Given the description of an element on the screen output the (x, y) to click on. 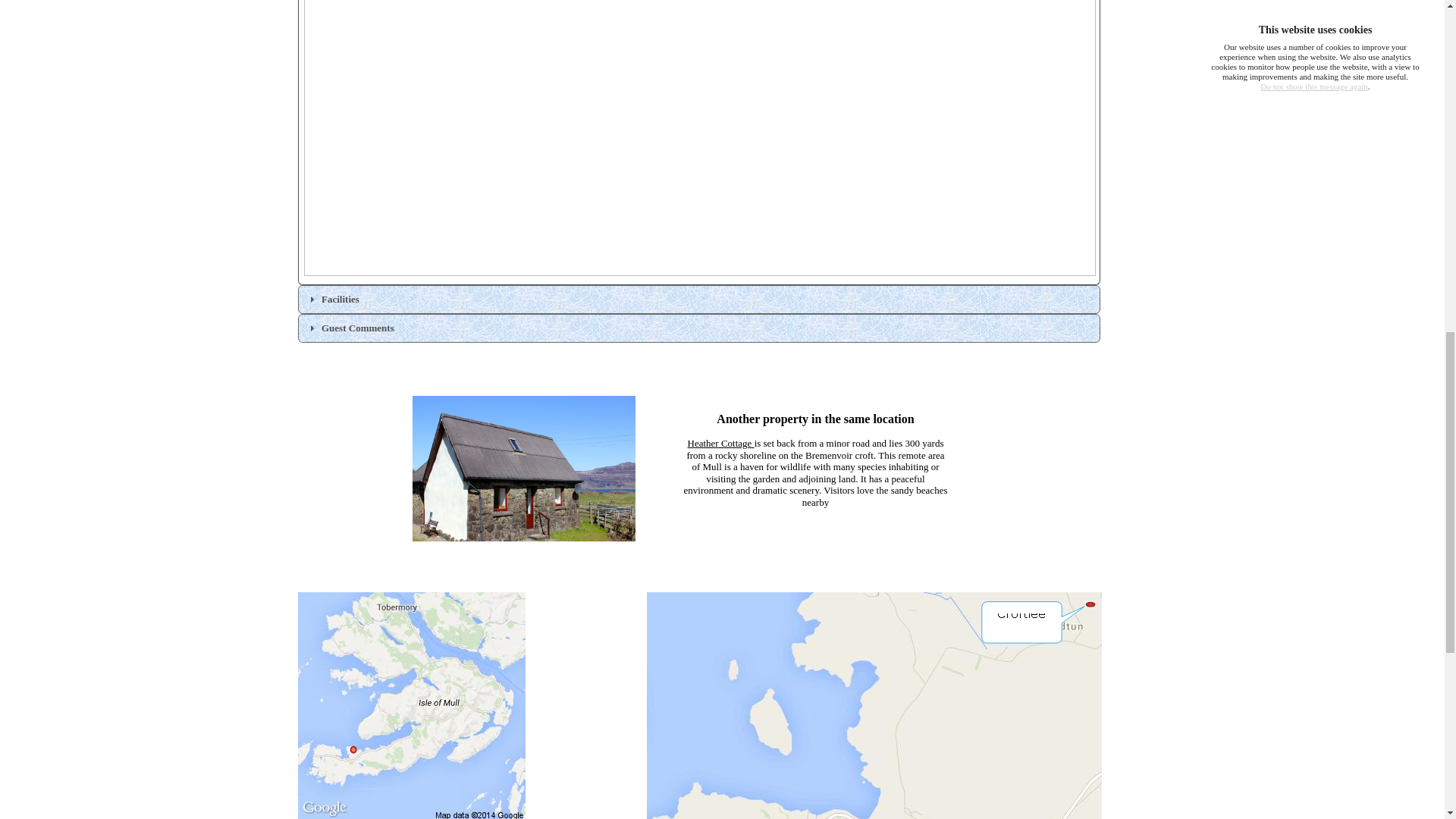
Heather Cottage (720, 442)
